Given the description of an element on the screen output the (x, y) to click on. 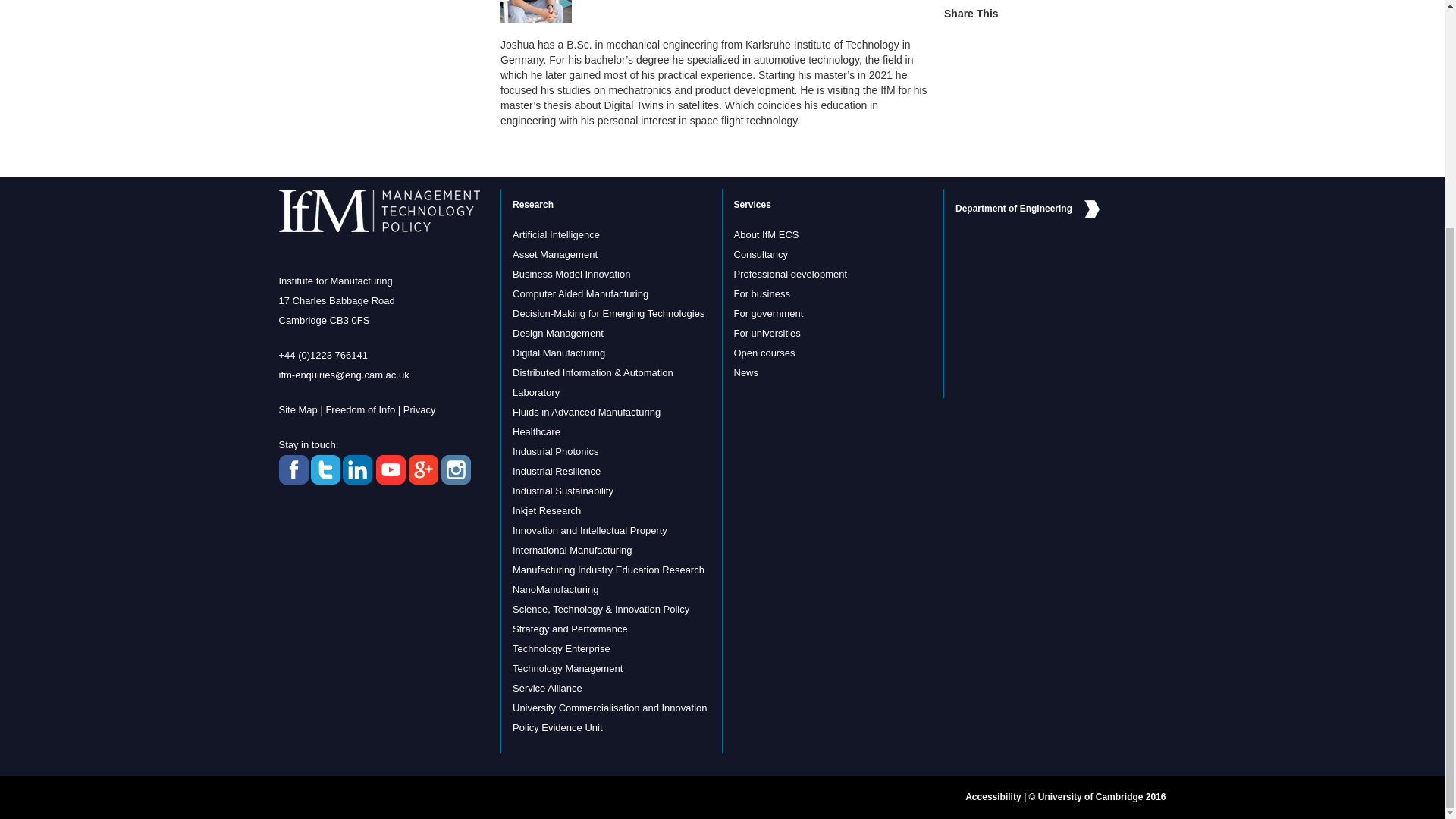
Healthcare (536, 431)
Design Management (558, 333)
Freedom of Info (359, 409)
Site Map (298, 409)
Asset Management (554, 254)
Decision-Making for Emerging Technologies (608, 313)
Industrial Resilience Research Group (555, 471)
Innovation and Intellectual Property (589, 530)
Computer Aided Manufacturing (579, 293)
Supply Chain AI Lab (555, 234)
International Manufacturing (571, 550)
Distributed Information and Automation Laboratory (592, 382)
Digital Manufacturing (558, 352)
Inkjet Research Centre (546, 510)
Fluids in Advanced Manufacturing (586, 411)
